Given the description of an element on the screen output the (x, y) to click on. 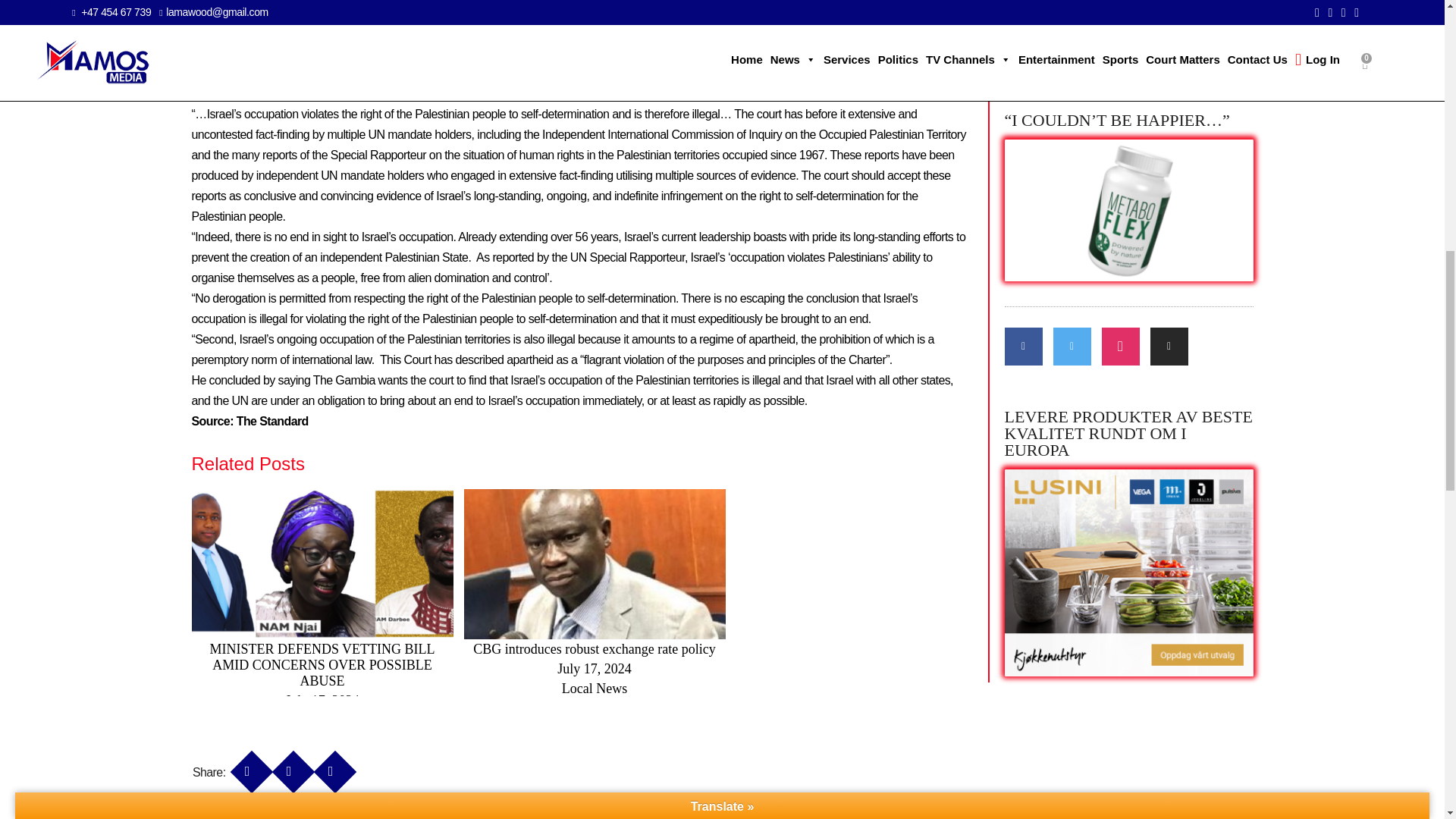
Share on Twitter (288, 764)
Share on Facebook (246, 764)
